Given the description of an element on the screen output the (x, y) to click on. 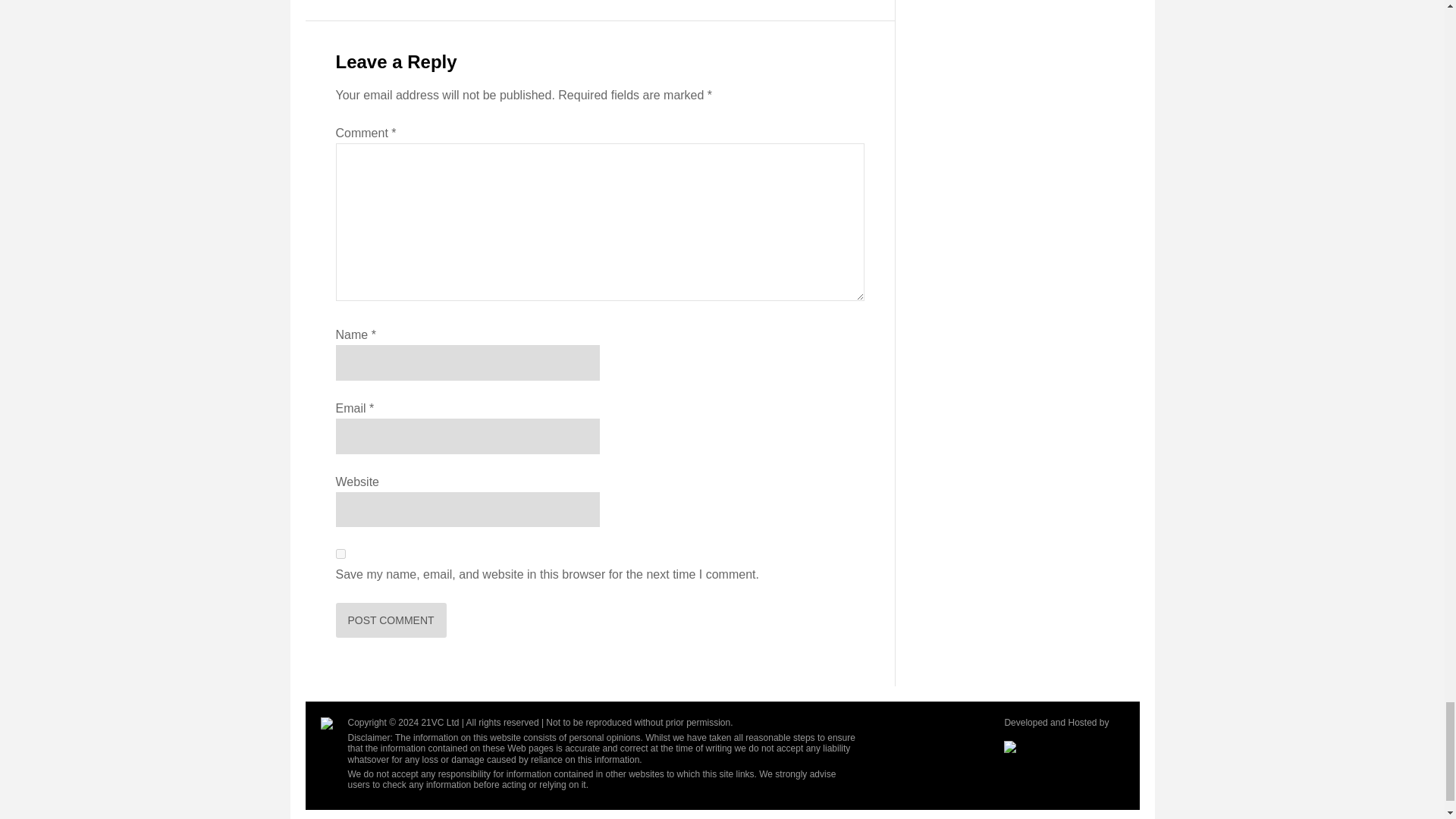
yes (339, 553)
Post Comment (389, 620)
